Given the description of an element on the screen output the (x, y) to click on. 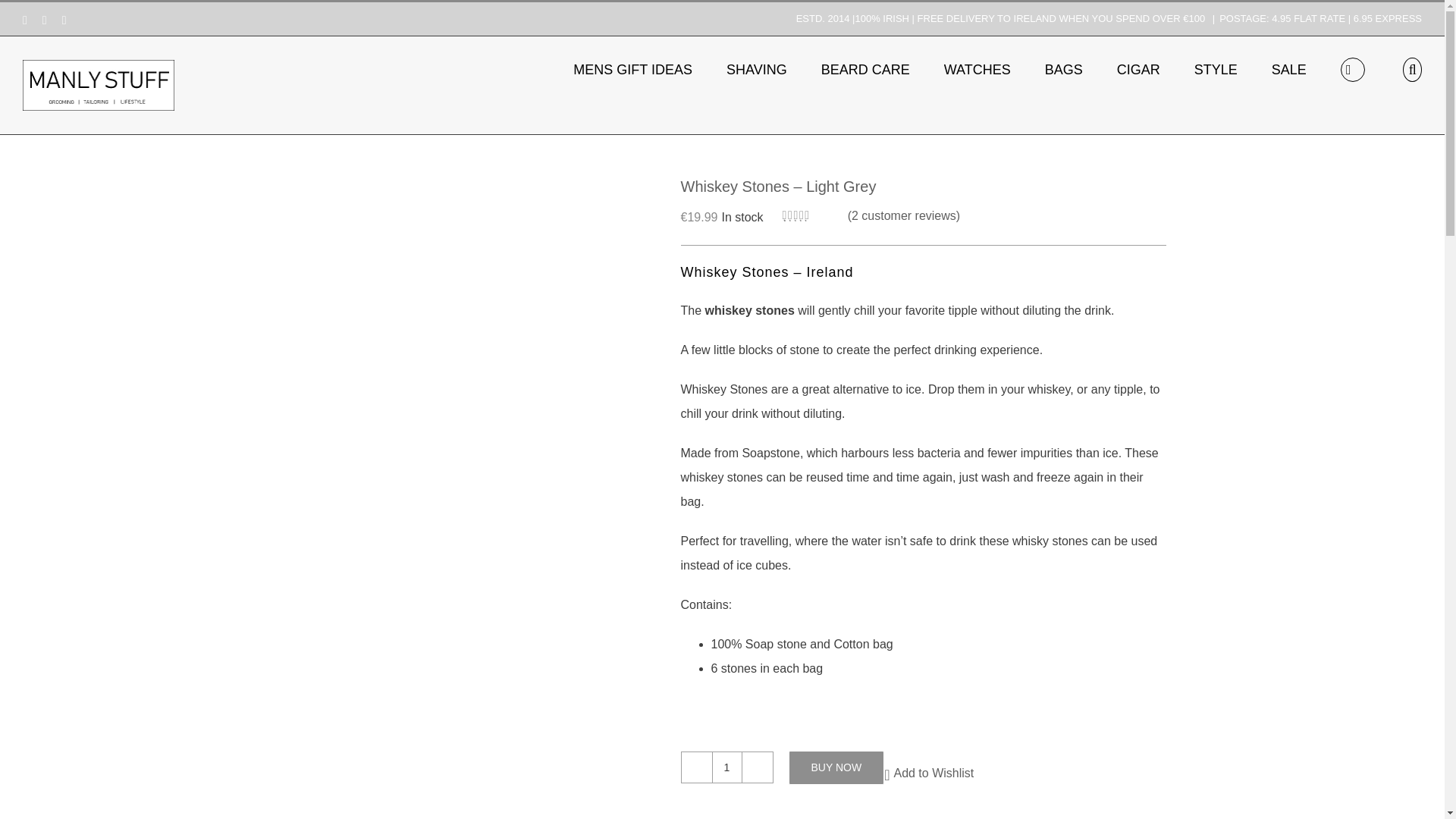
MENS GIFT IDEAS (633, 67)
BEARD CARE (865, 67)
WATCHES (976, 67)
SHAVING (756, 67)
1 (726, 767)
